Given the description of an element on the screen output the (x, y) to click on. 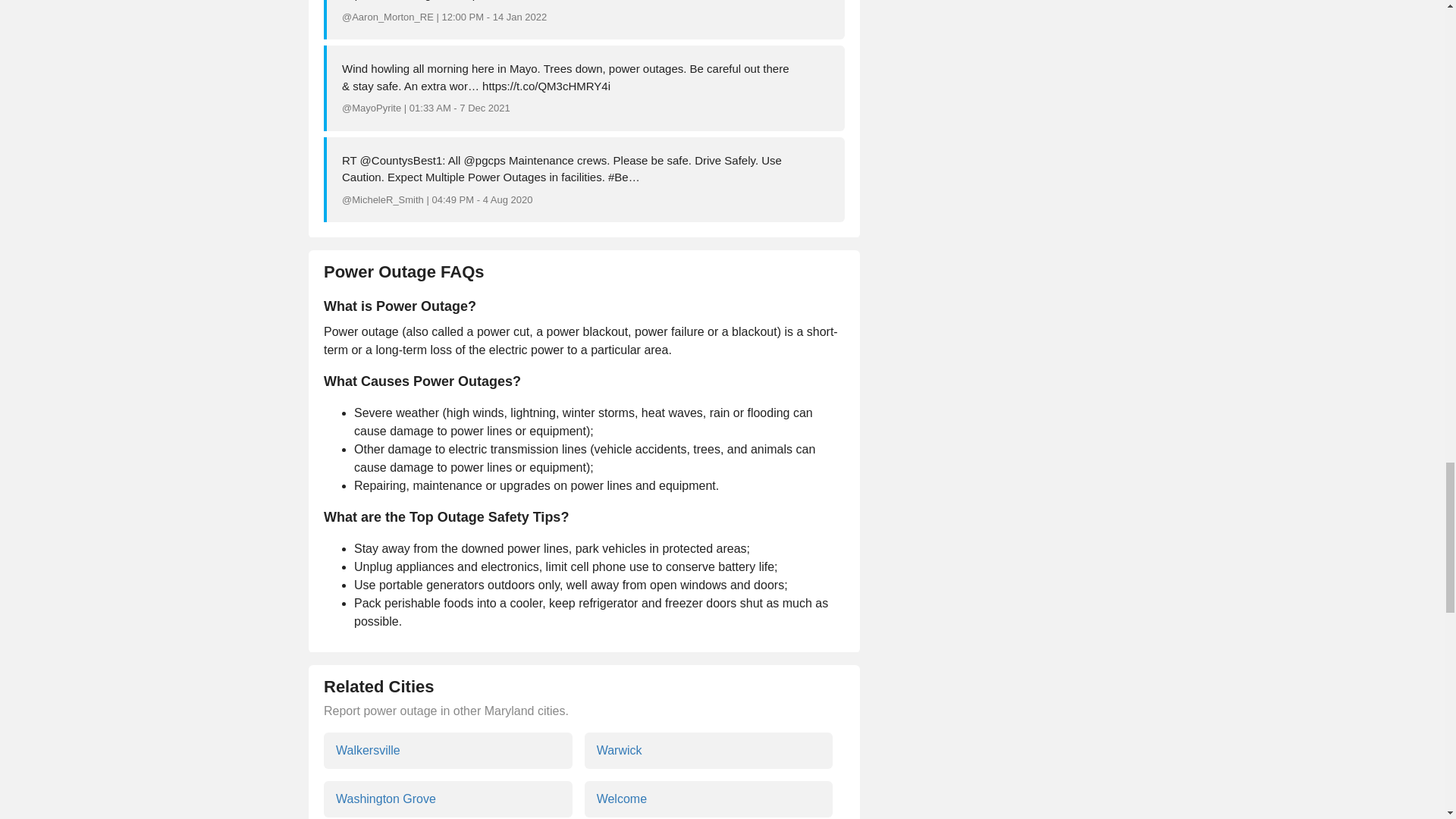
Washington Grove (447, 799)
Warwick (708, 750)
Walkersville (447, 750)
Welcome (708, 799)
